Given the description of an element on the screen output the (x, y) to click on. 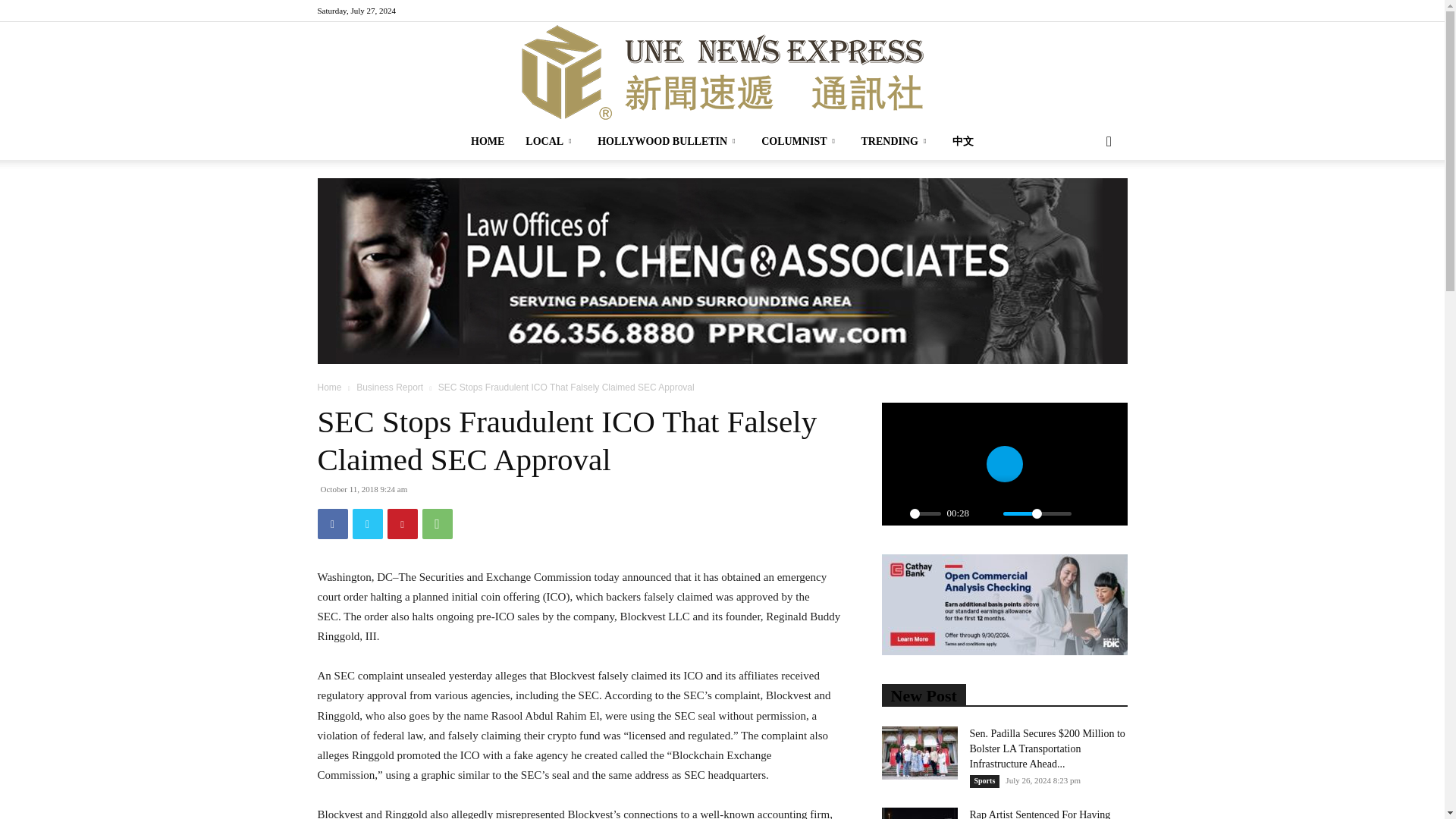
0.5 (1036, 513)
HOLLYWOOD BULLETIN (668, 141)
LOCAL (550, 141)
Twitter (366, 523)
Pinterest (401, 523)
Facebook (332, 523)
HOME (487, 141)
COLUMNIST (800, 141)
0 (925, 513)
TRENDING (896, 141)
View all posts in Business Report (389, 387)
WhatsApp (436, 523)
